Given the description of an element on the screen output the (x, y) to click on. 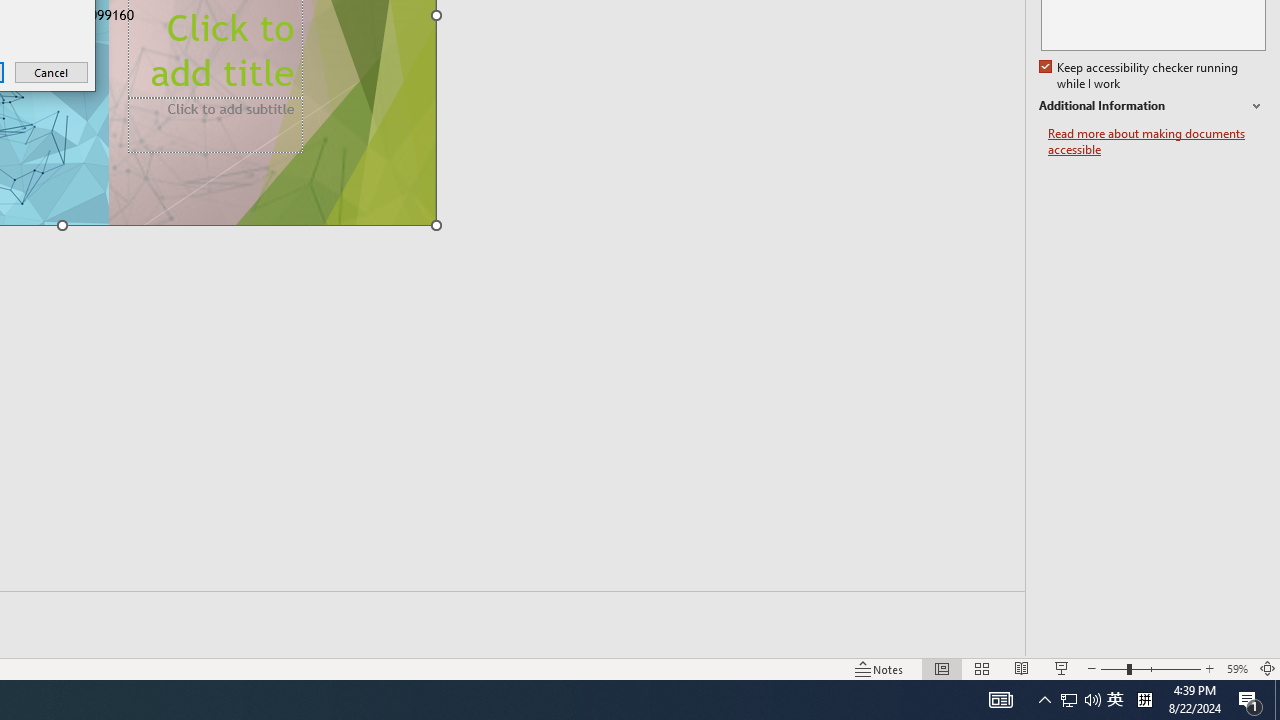
Q2790: 100% (1092, 699)
AutomationID: 4105 (1000, 699)
Action Center, 1 new notification (1115, 699)
Cancel (1250, 699)
Notification Chevron (51, 72)
Tray Input Indicator - Chinese (Simplified, China) (1044, 699)
Read more about making documents accessible (1144, 699)
Zoom 59% (1156, 142)
User Promoted Notification Area (1236, 668)
